Given the description of an element on the screen output the (x, y) to click on. 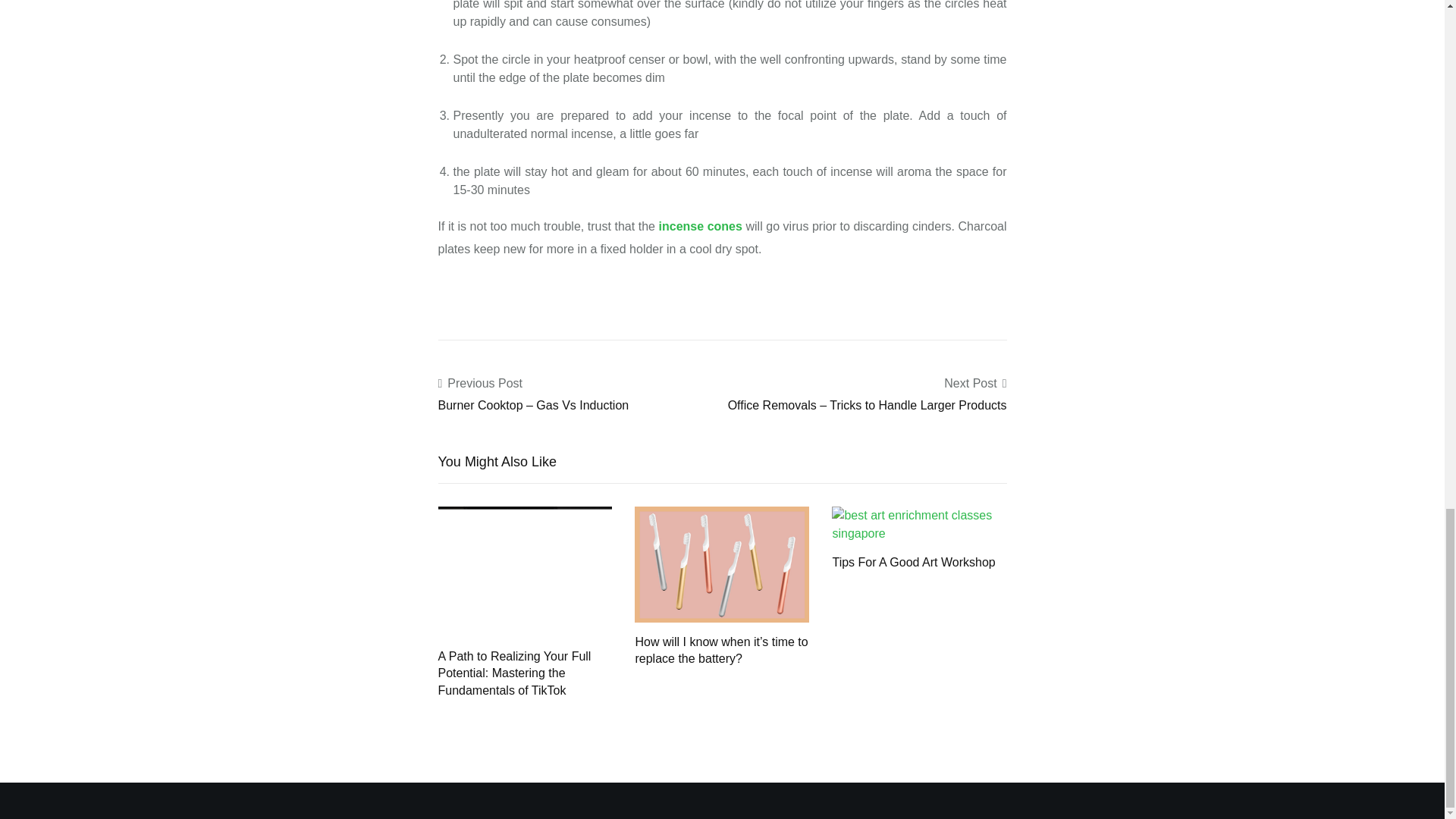
Tips For A Good Art Workshop (912, 562)
Tips For A Good Art Workshop (918, 522)
incense cones (700, 226)
